Given the description of an element on the screen output the (x, y) to click on. 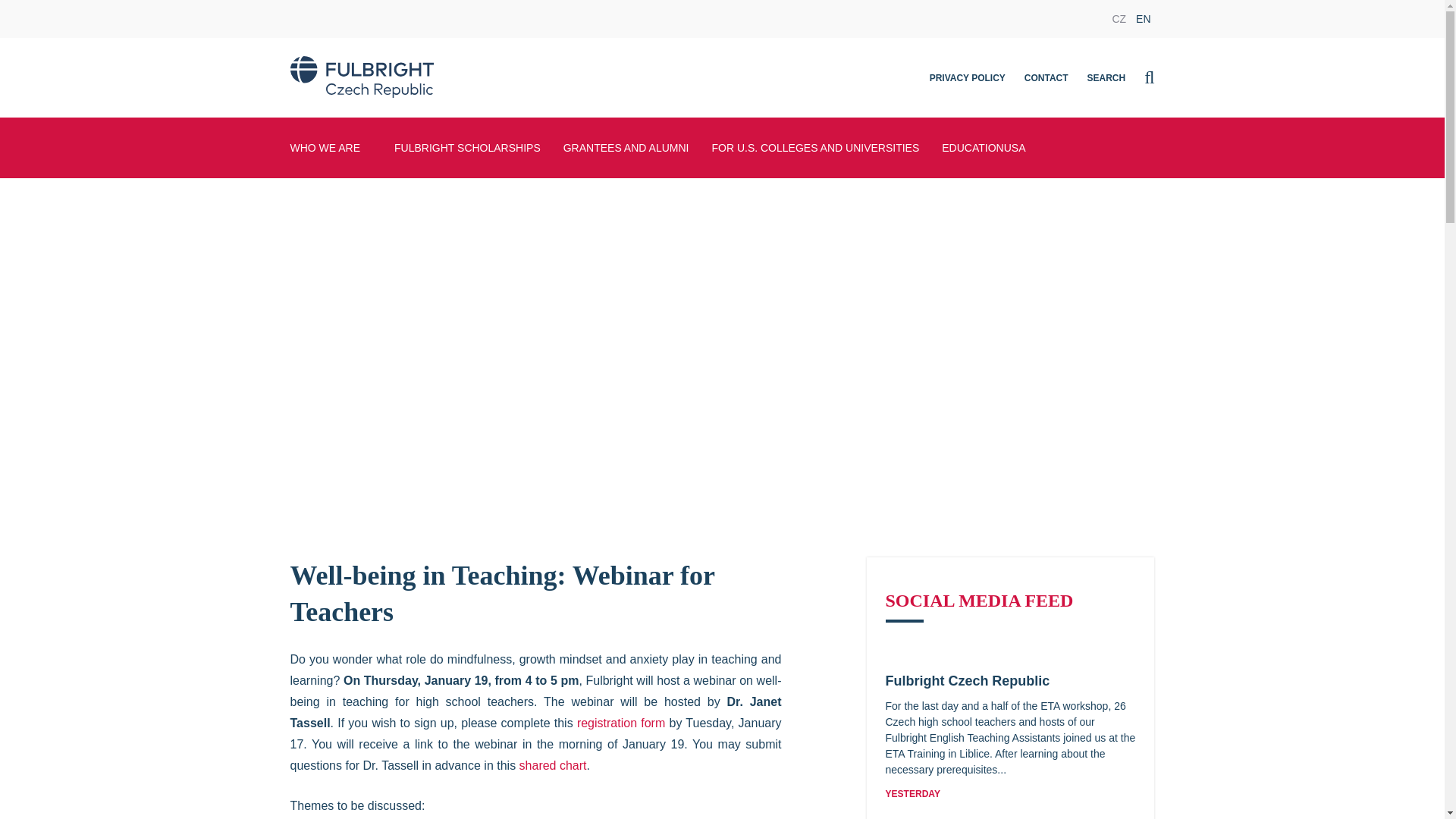
GRANTEES AND ALUMNI (625, 147)
Fulbright Czech Republic (967, 680)
PRIVACY POLICY (968, 79)
CZ (1118, 18)
registration form (620, 722)
EDUCATIONUSA (983, 147)
CONTACT (1046, 79)
EN (1142, 18)
August 30, 2024 9:41 (912, 793)
FULBRIGHT SCHOLARSHIPS (466, 147)
